Given the description of an element on the screen output the (x, y) to click on. 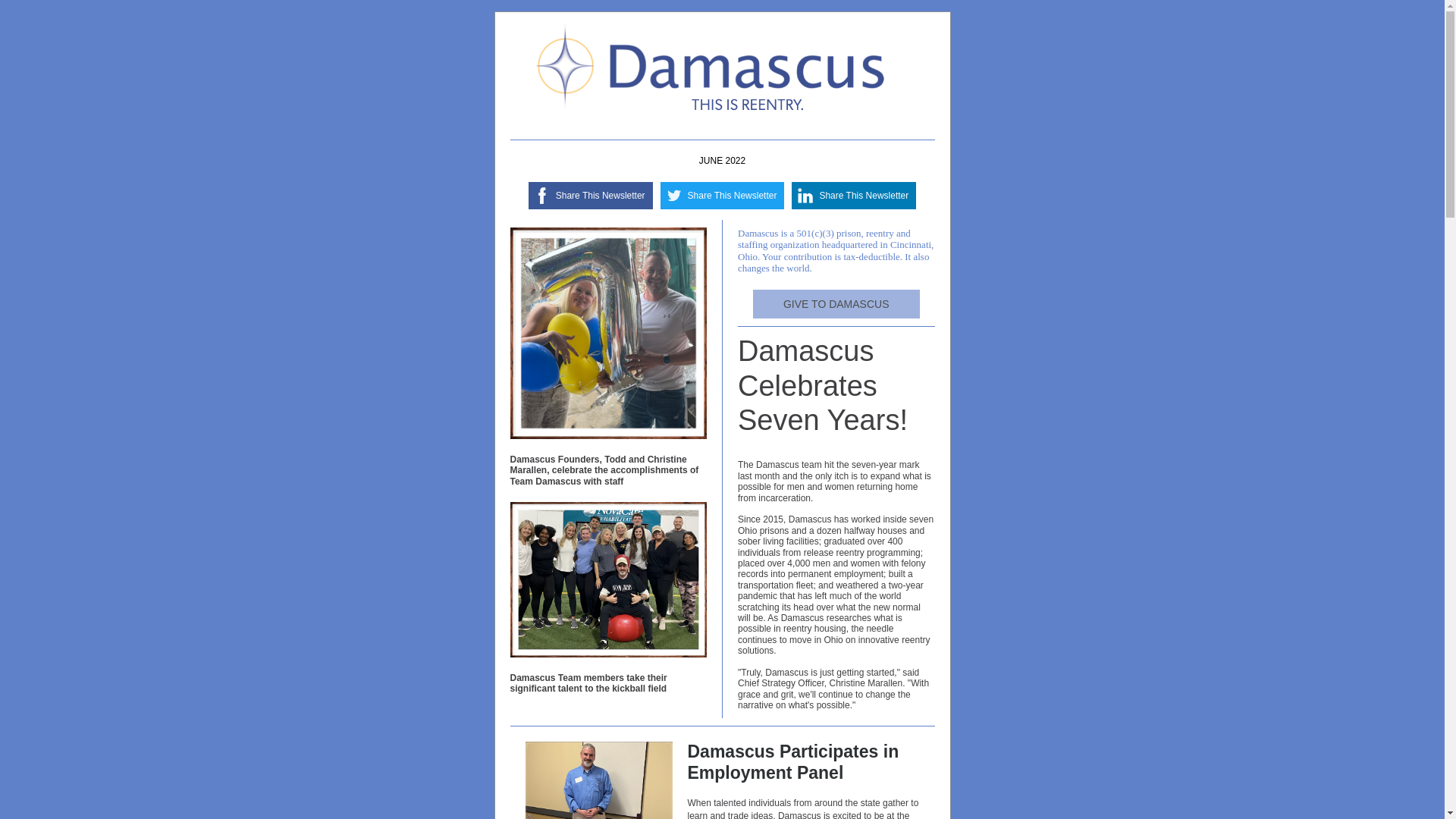
GIVE TO DAMASCUS (836, 304)
Share This Newsletter (600, 195)
Share This Newsletter (863, 195)
Share This Newsletter (732, 195)
